Given the description of an element on the screen output the (x, y) to click on. 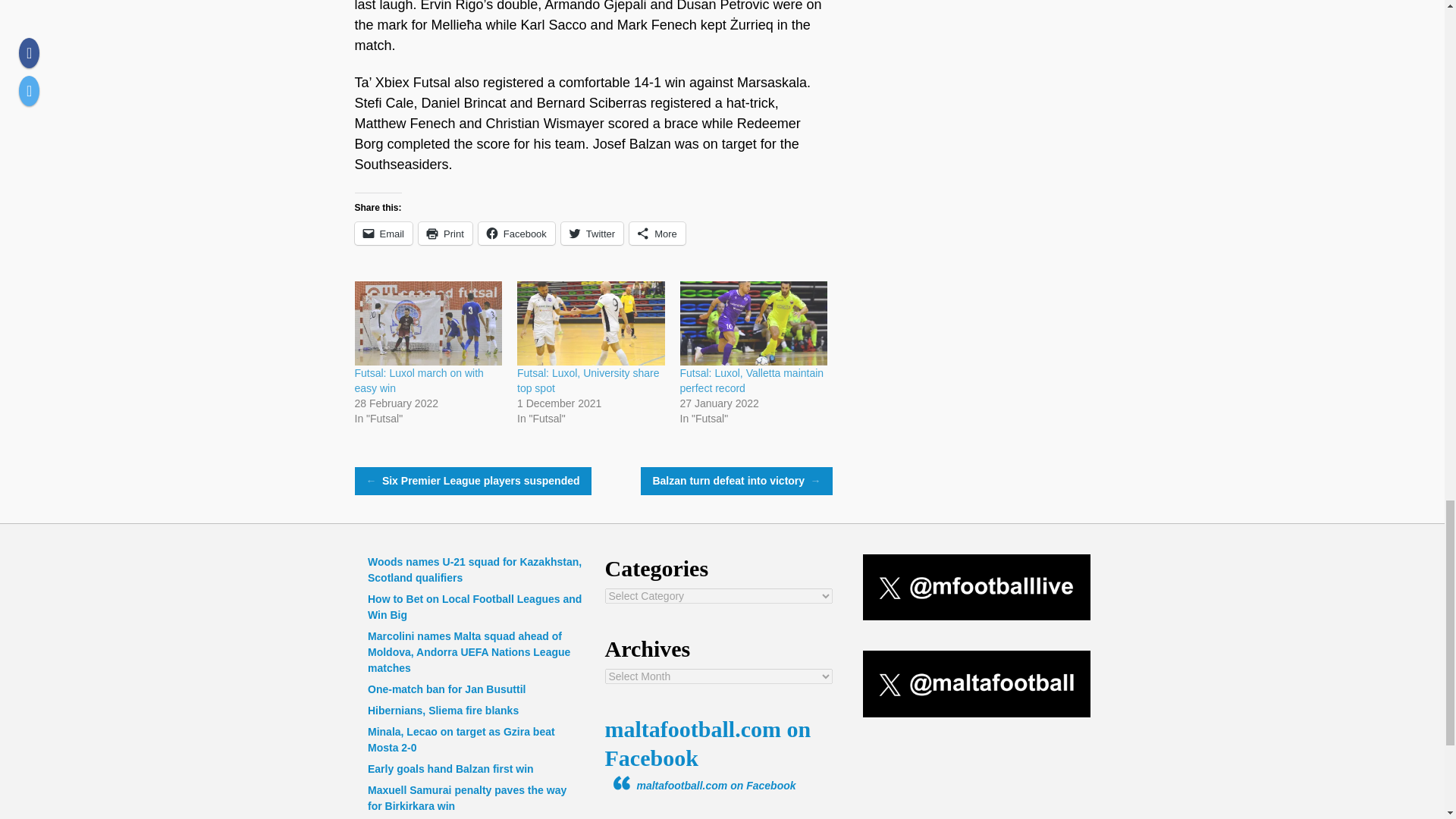
Click to print (445, 232)
Futsal: Luxol march on with easy win (428, 323)
Click to share on Twitter (591, 232)
Click to share on Facebook (516, 232)
Click to email a link to a friend (384, 232)
Futsal: Luxol, University share top spot (590, 323)
Futsal: Luxol march on with easy win (419, 379)
